Given the description of an element on the screen output the (x, y) to click on. 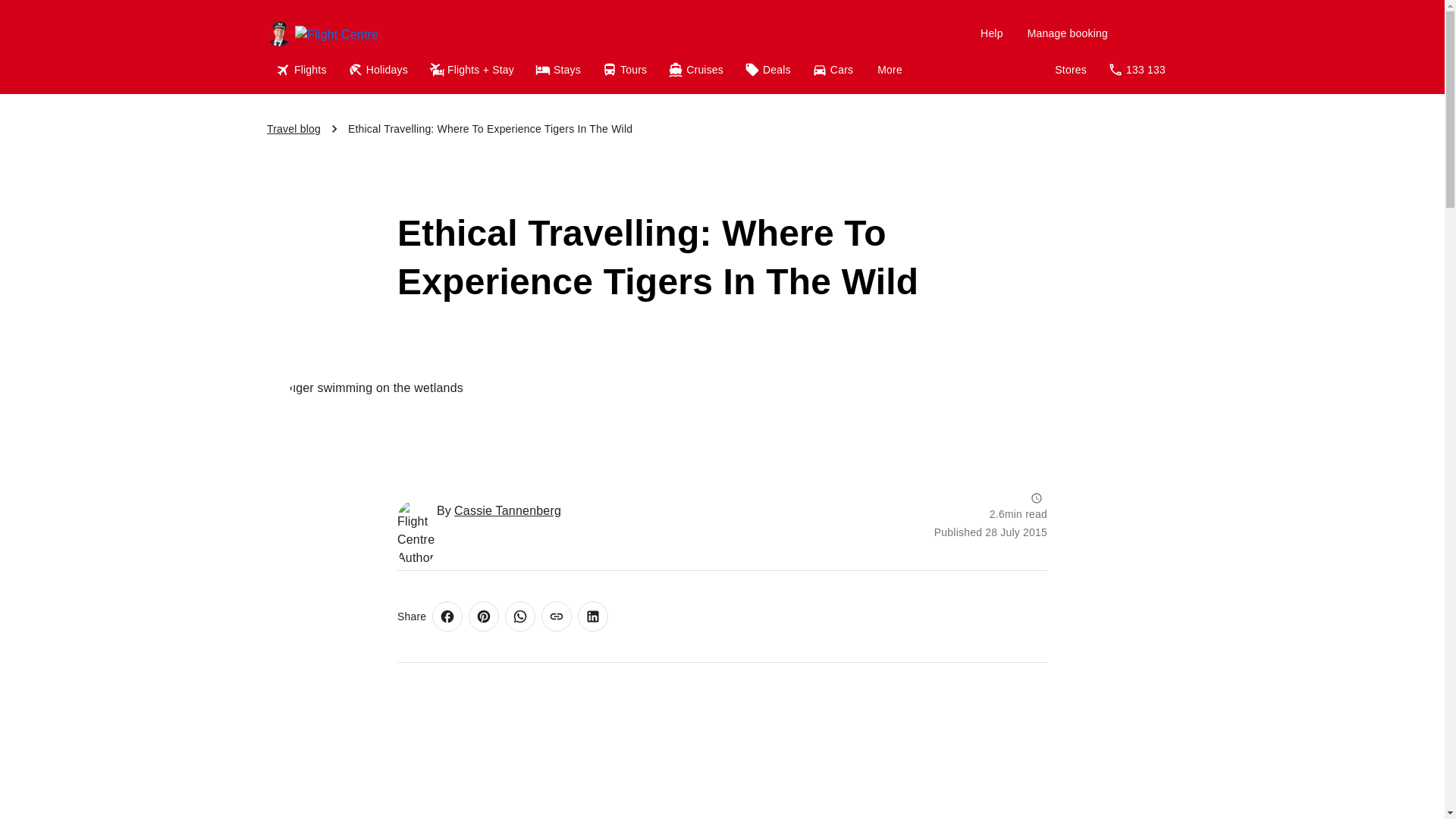
Manage booking (1066, 33)
Cruises (697, 69)
More (889, 69)
Holidays (379, 69)
Stays (558, 69)
Flight Centre (370, 32)
Stays (558, 69)
Flights (302, 69)
Manage booking (1066, 33)
Cruises (697, 69)
Cars (833, 69)
Stores (1070, 69)
Deals (769, 69)
Help (991, 33)
Cars (833, 69)
